Given the description of an element on the screen output the (x, y) to click on. 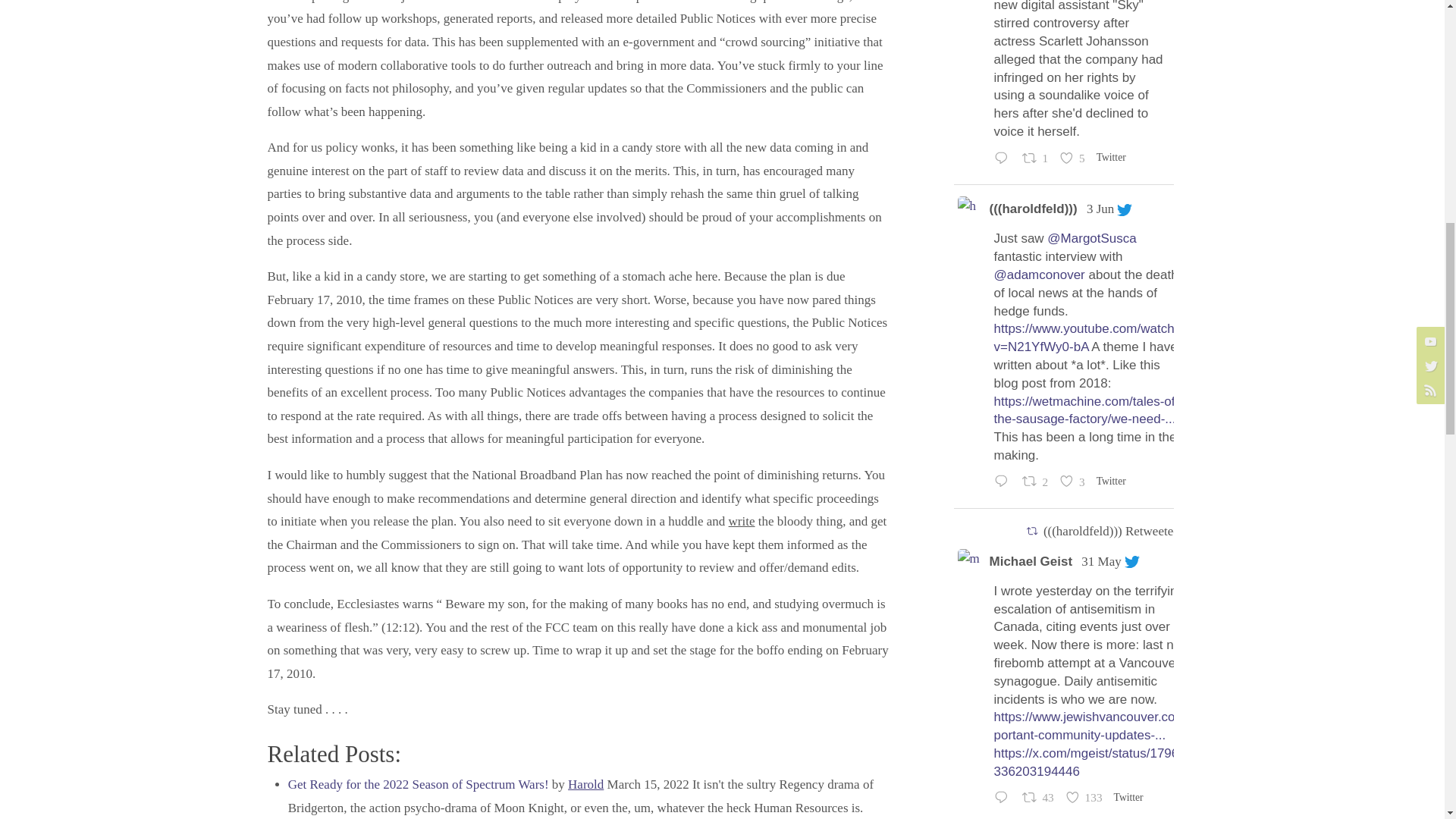
Harold (585, 784)
Get Ready for the 2022 Season of Spectrum Wars! (418, 784)
